Given the description of an element on the screen output the (x, y) to click on. 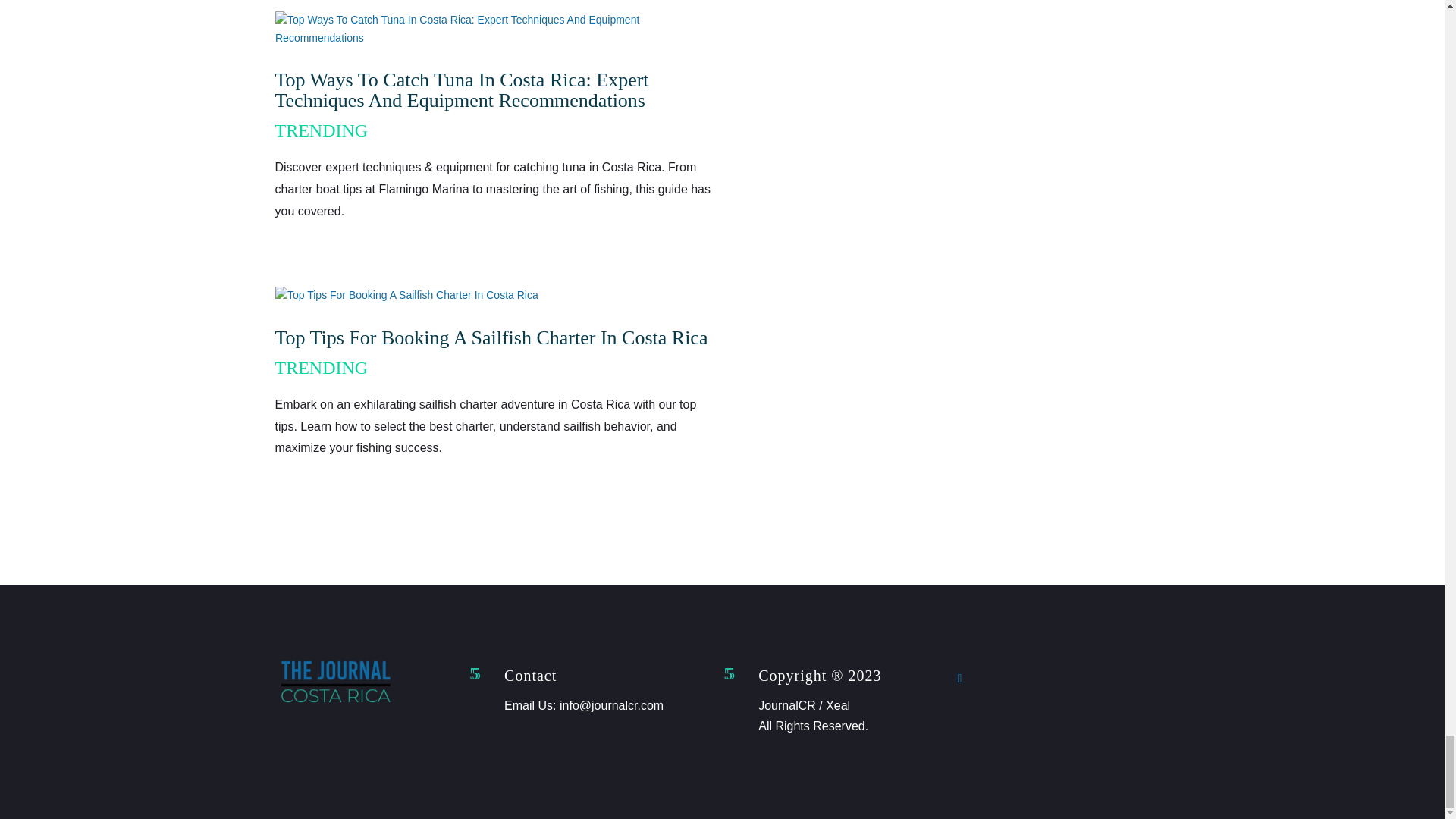
Top Tips For Booking A Sailfish Charter In Costa Rica (491, 337)
Follow on Facebook (959, 678)
TRENDING (321, 367)
Xeal (837, 705)
TRENDING (321, 130)
thejournalcr (335, 704)
Xeal (837, 705)
